Given the description of an element on the screen output the (x, y) to click on. 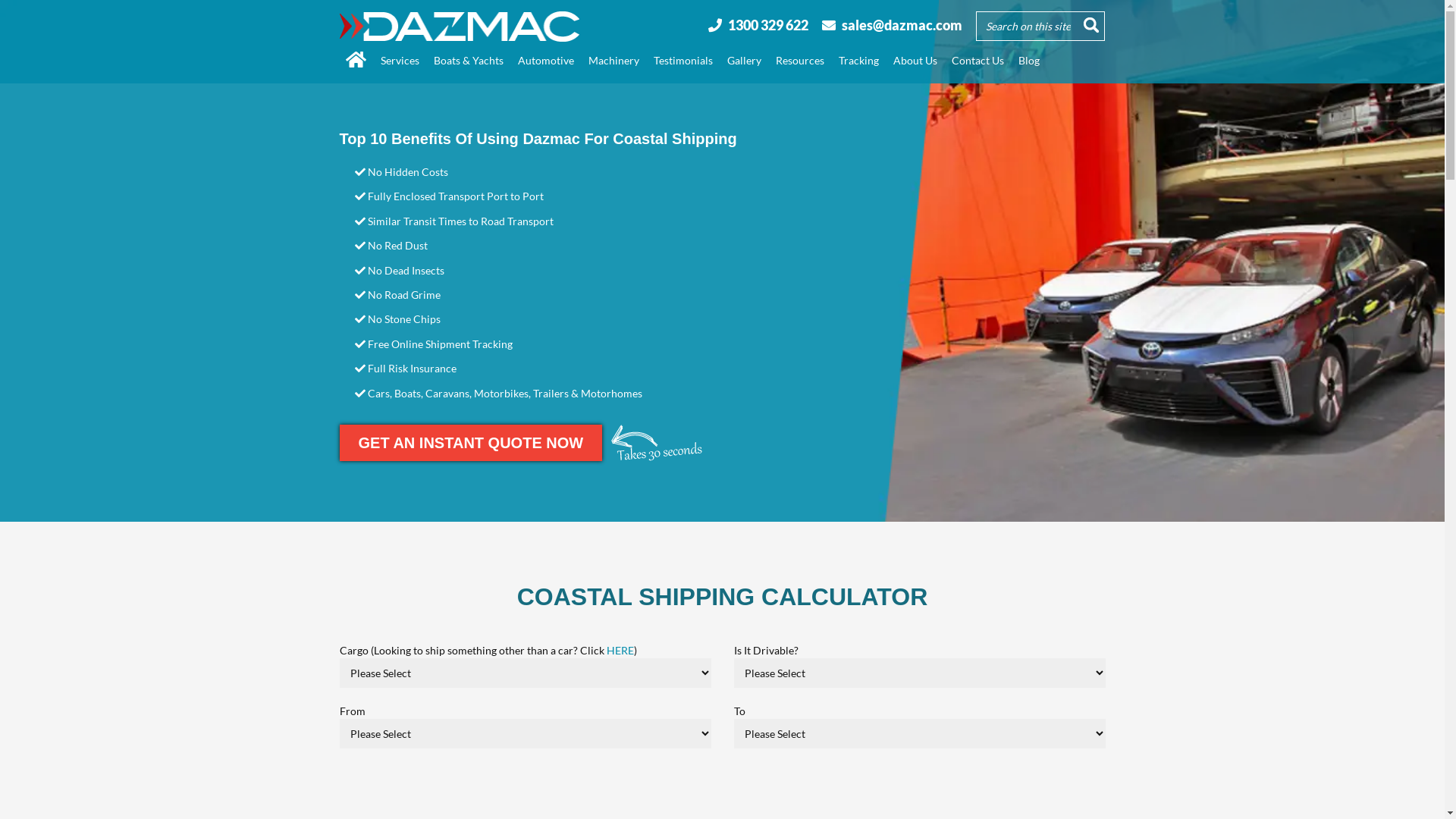
Testimonials Element type: text (682, 60)
Services Element type: text (399, 60)
Tracking Element type: text (858, 60)
sales@dazmac.com Element type: text (901, 24)
Automotive Element type: text (545, 60)
Gallery Element type: text (743, 60)
Contact Us Element type: text (976, 60)
Search Element type: text (1091, 24)
Search for: Element type: hover (1040, 26)
About Us Element type: text (915, 60)
1300 329 622 Element type: text (768, 24)
Machinery Element type: text (613, 60)
Resources Element type: text (799, 60)
Blog Element type: text (1027, 60)
HERE Element type: text (619, 649)
Boats & Yachts Element type: text (468, 60)
Dazmac Element type: hover (459, 26)
GET AN INSTANT QUOTE NOW Element type: text (470, 442)
